Given the description of an element on the screen output the (x, y) to click on. 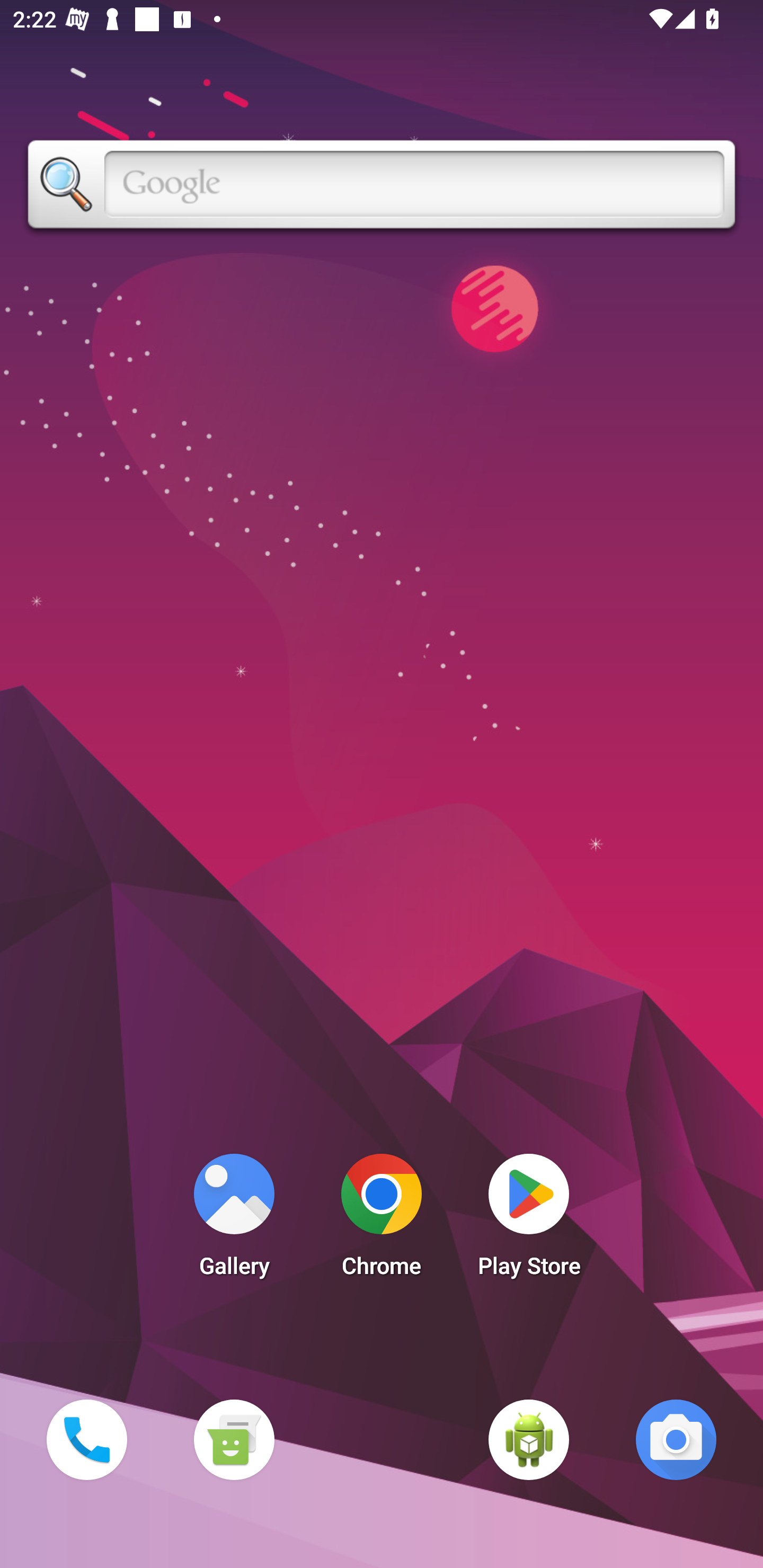
Gallery (233, 1220)
Chrome (381, 1220)
Play Store (528, 1220)
Phone (86, 1439)
Messaging (233, 1439)
WebView Browser Tester (528, 1439)
Camera (676, 1439)
